Given the description of an element on the screen output the (x, y) to click on. 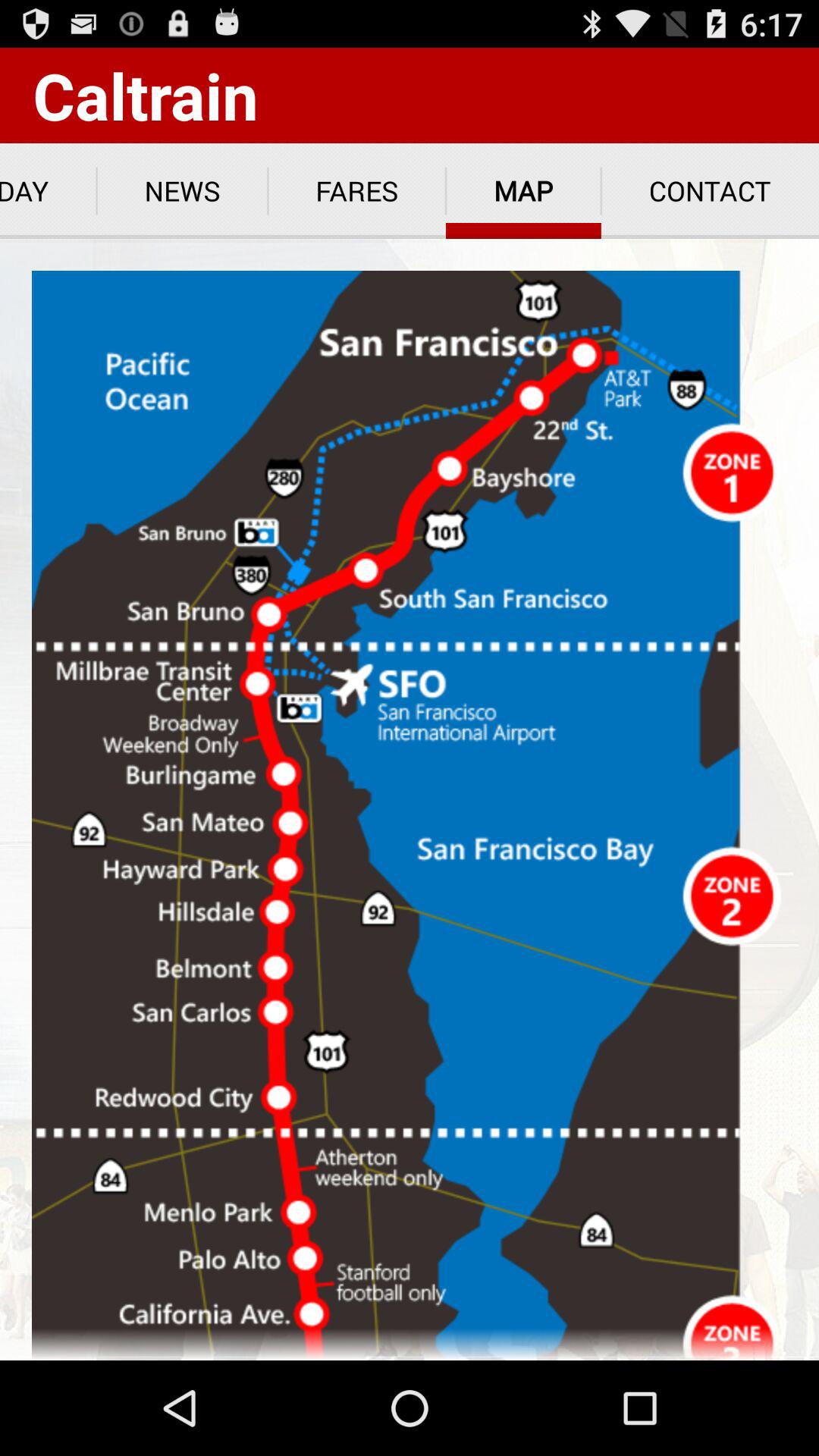
scroll until the contact icon (710, 190)
